Given the description of an element on the screen output the (x, y) to click on. 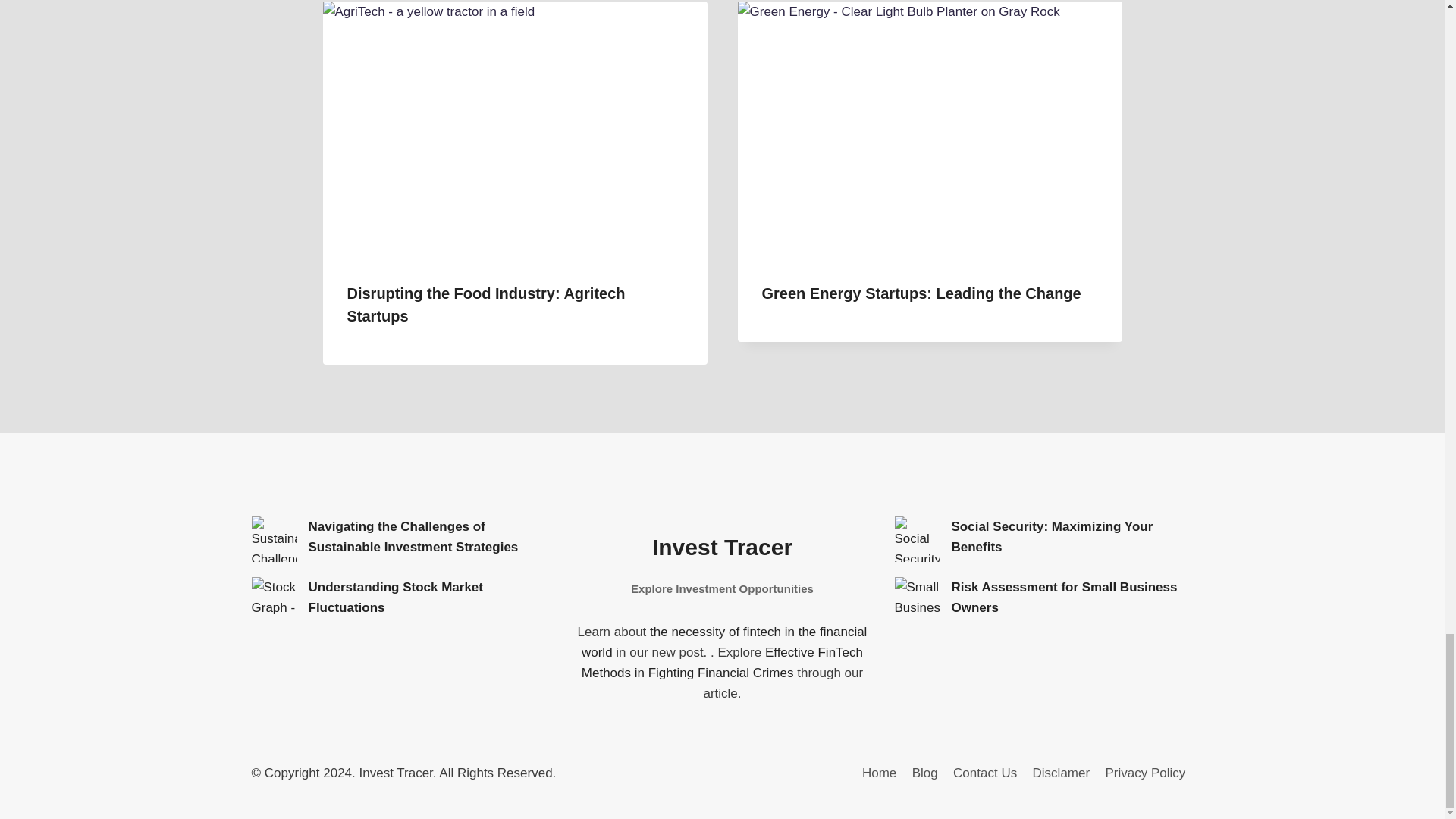
Social Security: Maximizing Your Benefits (917, 538)
Understanding Stock Market Fluctuations (274, 599)
Risk Assessment for Small Business Owners (917, 599)
